Given the description of an element on the screen output the (x, y) to click on. 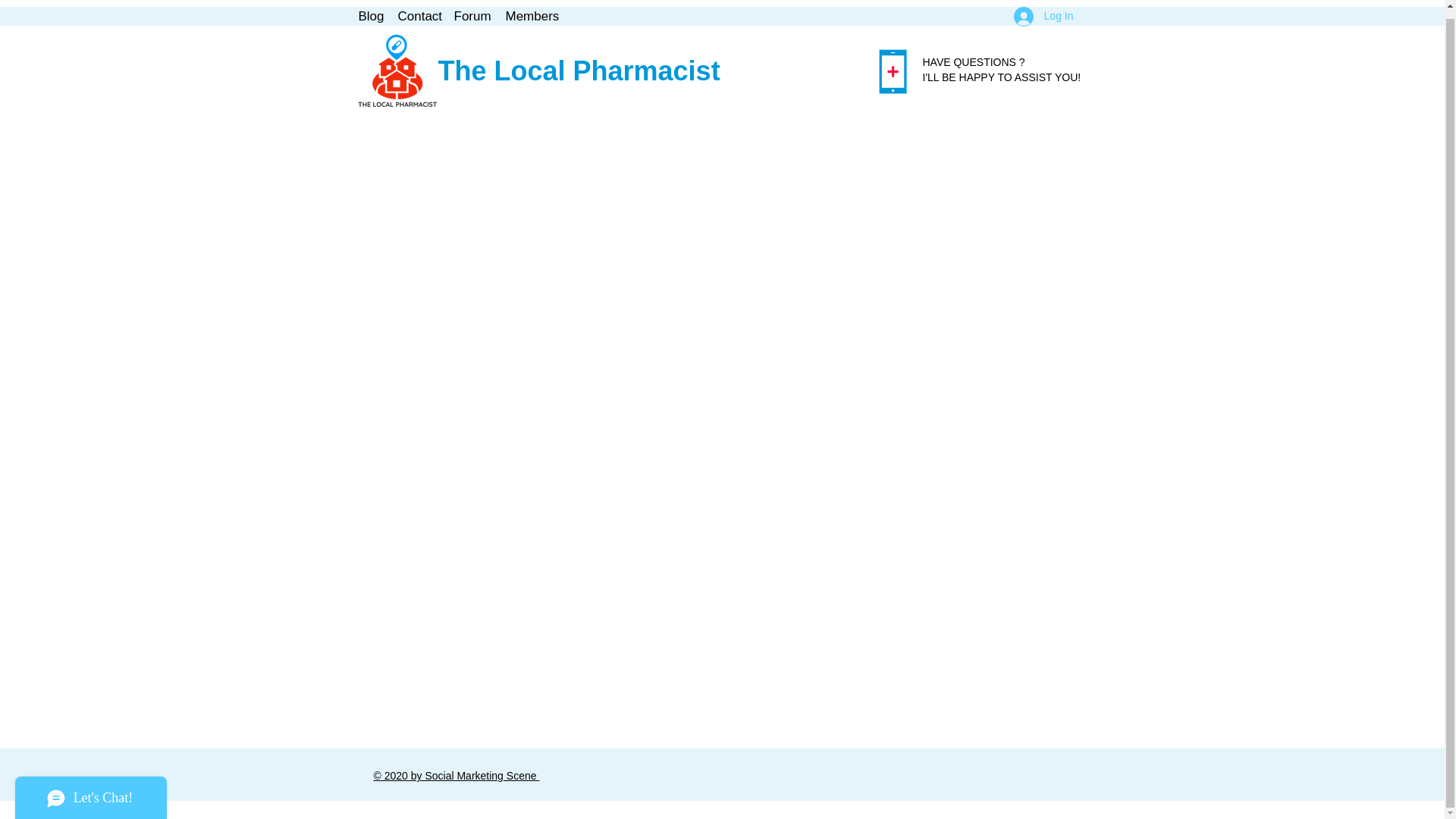
Contact (417, 15)
Blog (370, 15)
Members (530, 15)
Wix Chat (87, 786)
The Local Pharmacist (579, 70)
Log In (1043, 15)
Forum (471, 15)
